Given the description of an element on the screen output the (x, y) to click on. 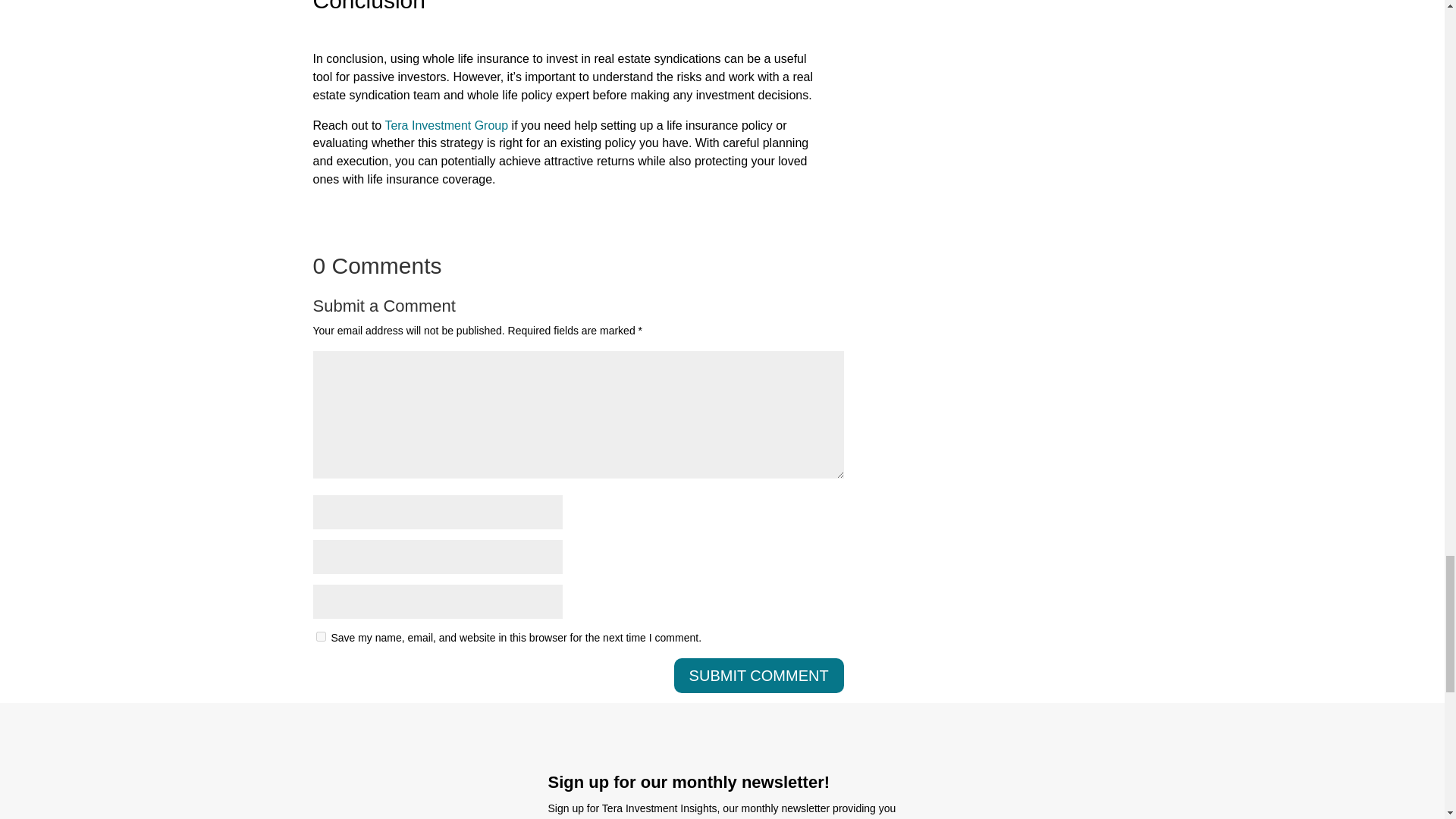
Tera Investment Group (446, 124)
SUBMIT COMMENT (759, 675)
yes (319, 636)
